Given the description of an element on the screen output the (x, y) to click on. 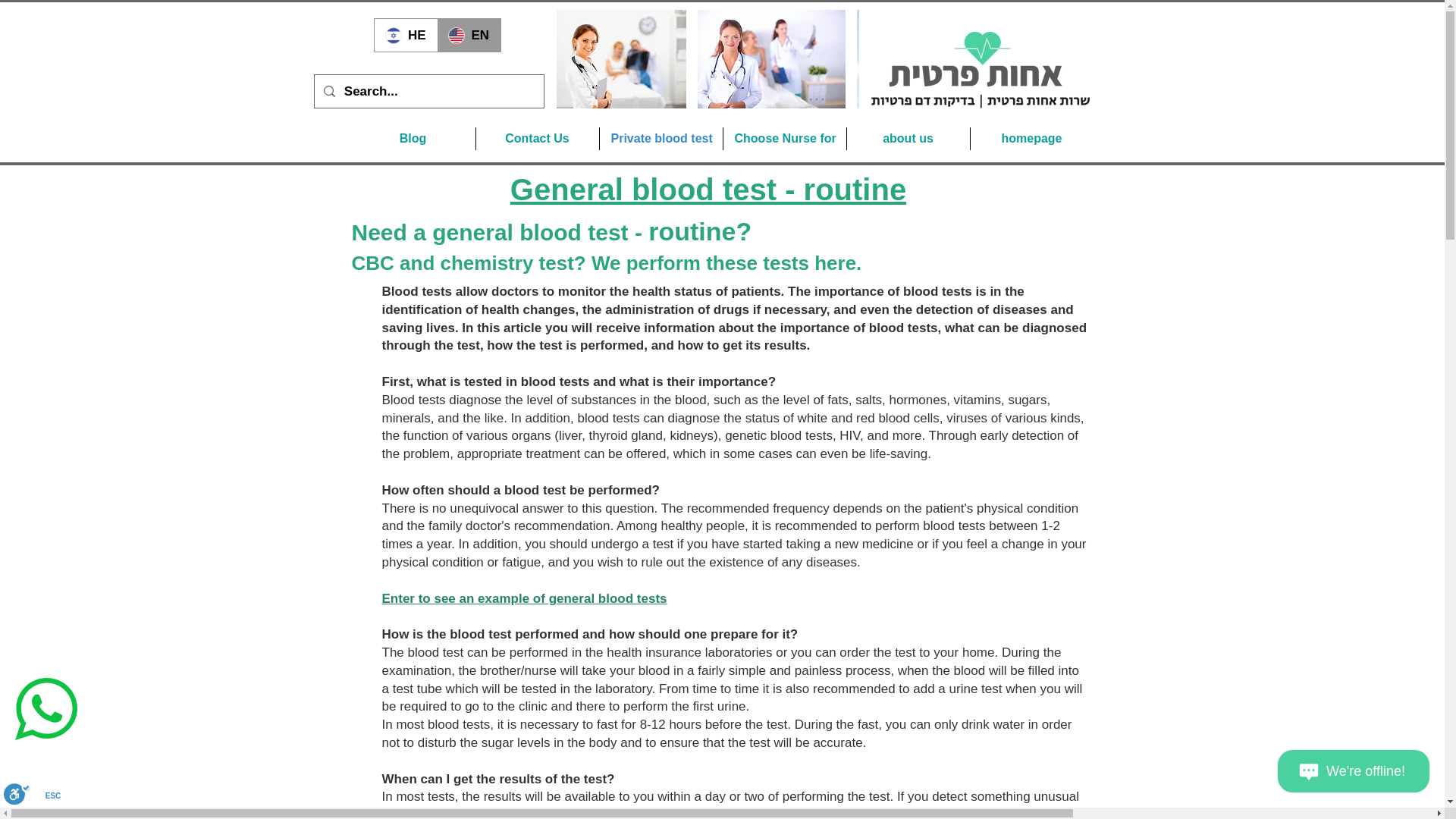
Contact Us (537, 138)
Blog (412, 138)
Site Search (446, 94)
Private blood test (660, 138)
HE (406, 34)
Choose Nurse for (784, 138)
Wix Chat (1356, 774)
EN (468, 34)
